Given the description of an element on the screen output the (x, y) to click on. 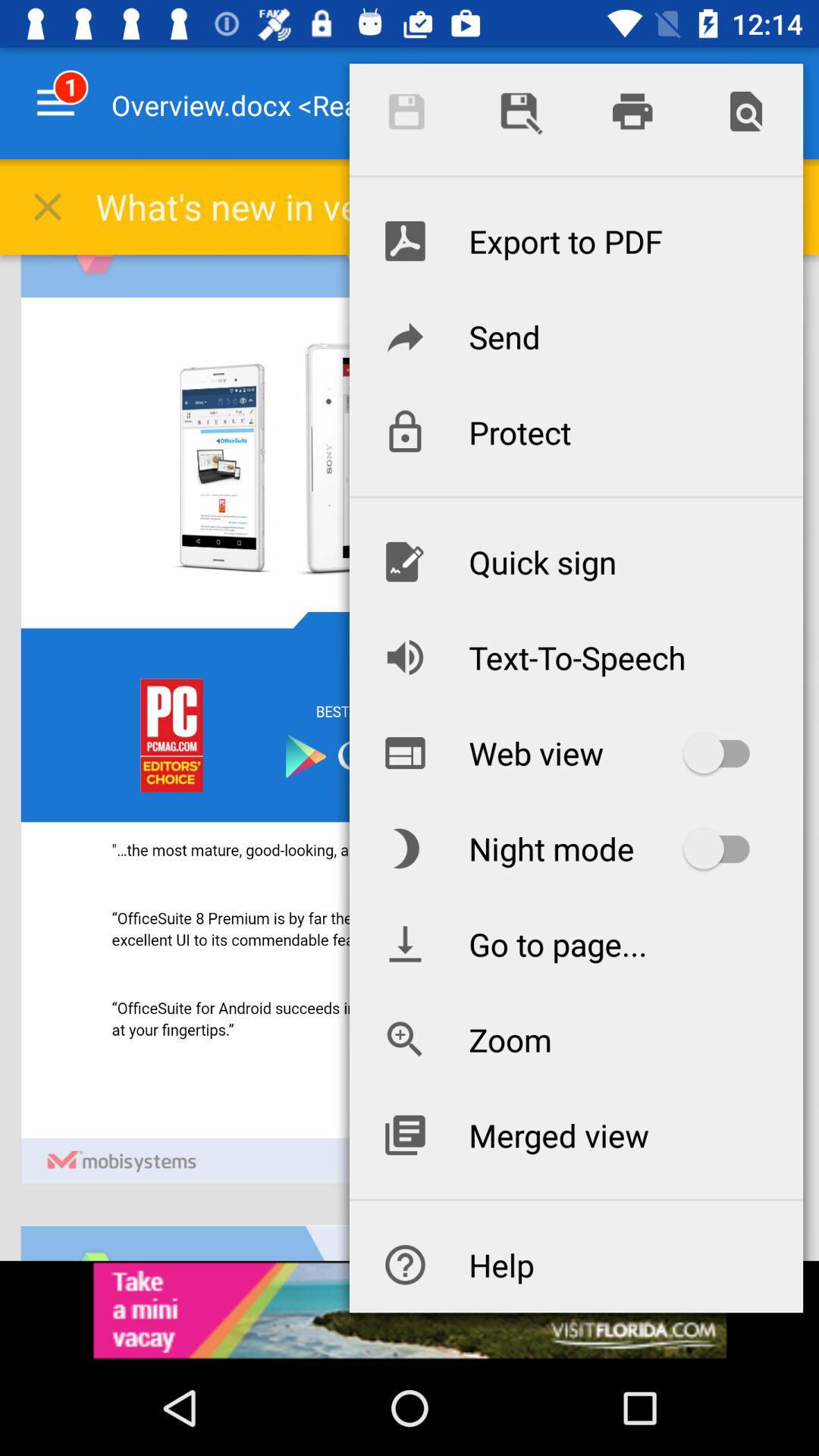
tap help (576, 1264)
